Given the description of an element on the screen output the (x, y) to click on. 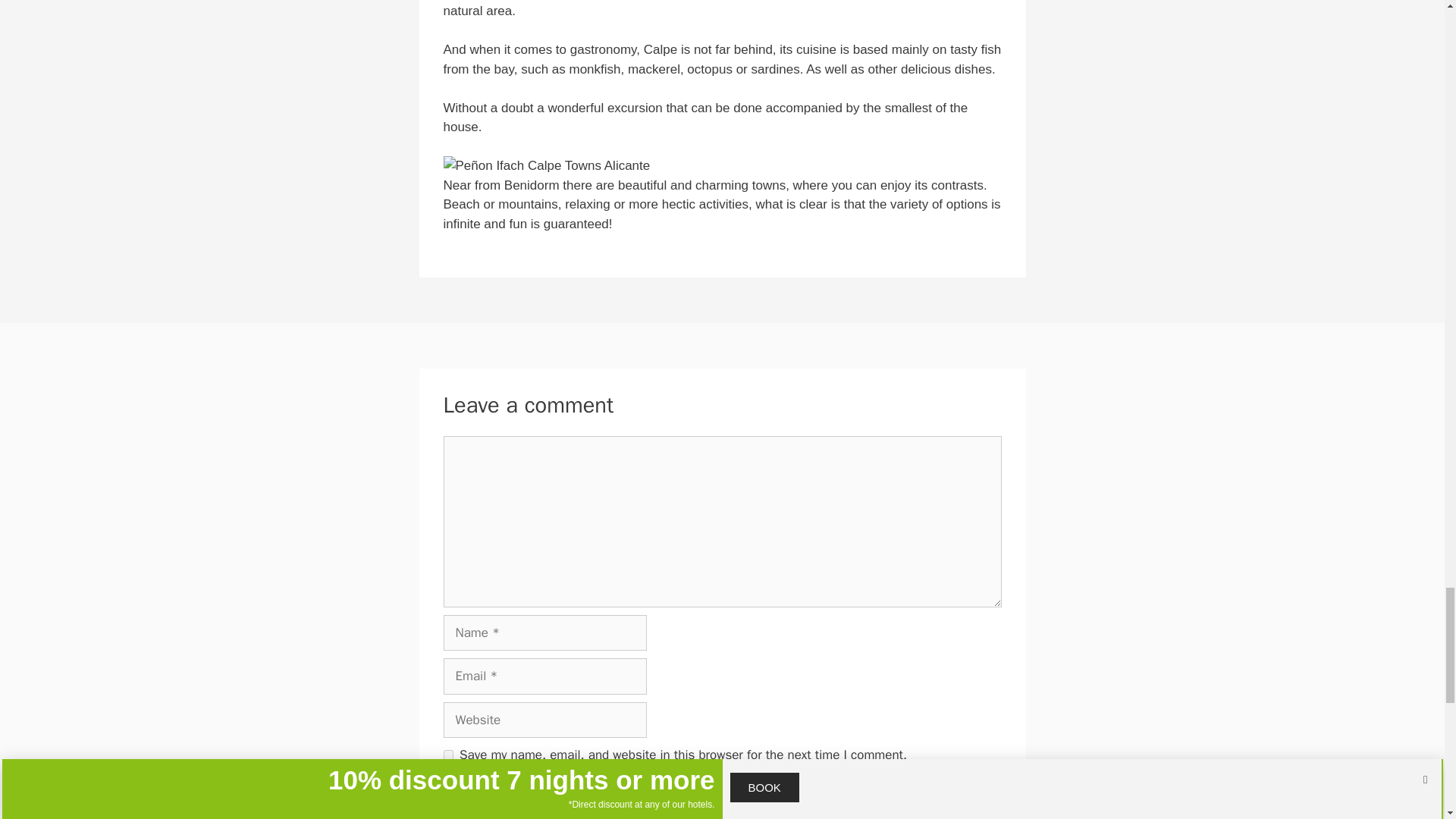
yes (447, 755)
Post Comment (499, 801)
